Given the description of an element on the screen output the (x, y) to click on. 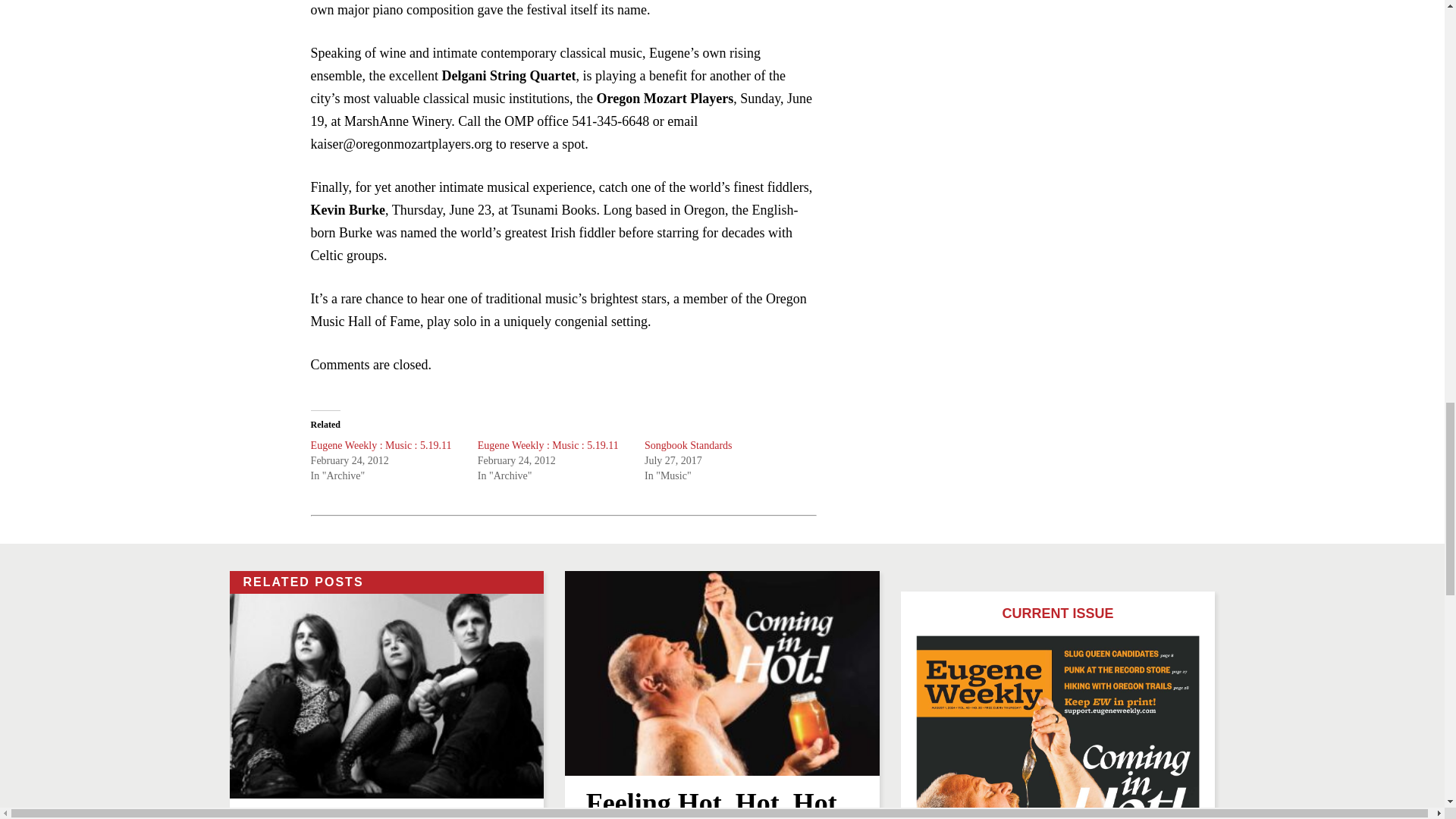
Eugene Weekly : Music : 5.19.11 (547, 445)
Songbook Standards (688, 445)
Eugene Weekly : Music : 5.19.11 (381, 445)
